Given the description of an element on the screen output the (x, y) to click on. 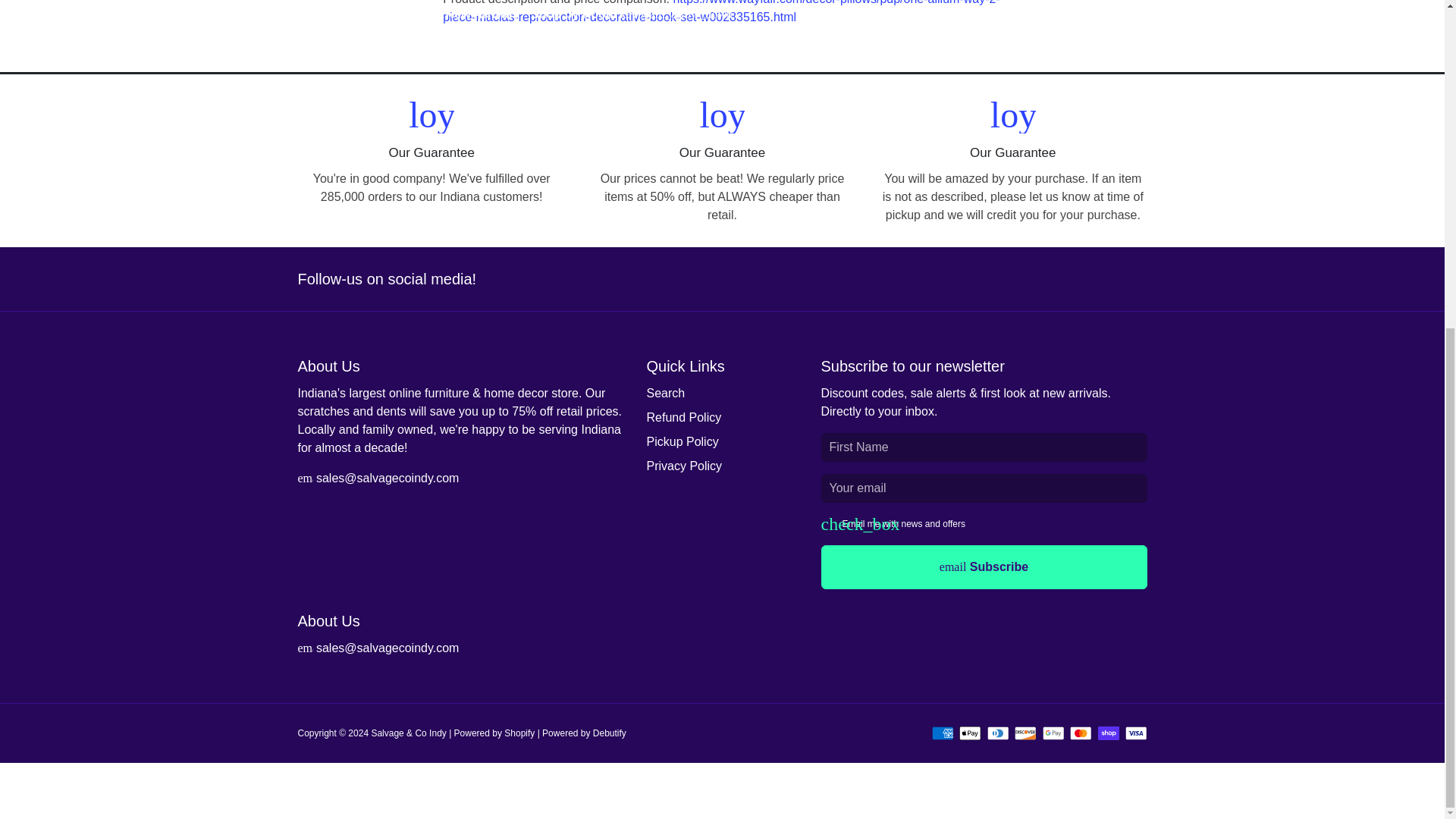
Apple Pay (970, 733)
American Express (941, 733)
